Given the description of an element on the screen output the (x, y) to click on. 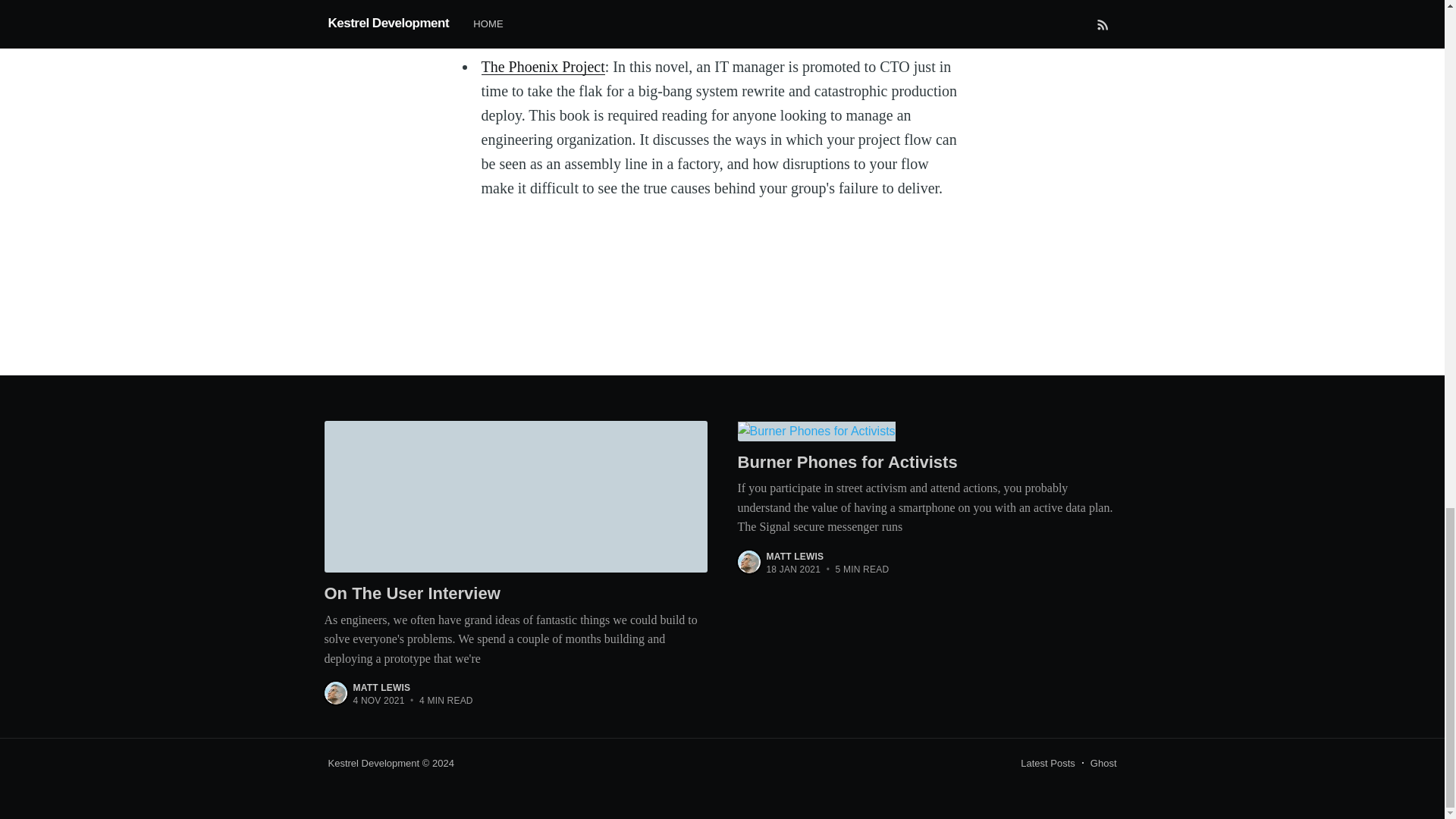
MATT LEWIS (794, 556)
The Phoenix Project (542, 65)
Kestrel Development (373, 763)
MATT LEWIS (381, 687)
Ghost (1103, 763)
Latest Posts (1047, 763)
